Given the description of an element on the screen output the (x, y) to click on. 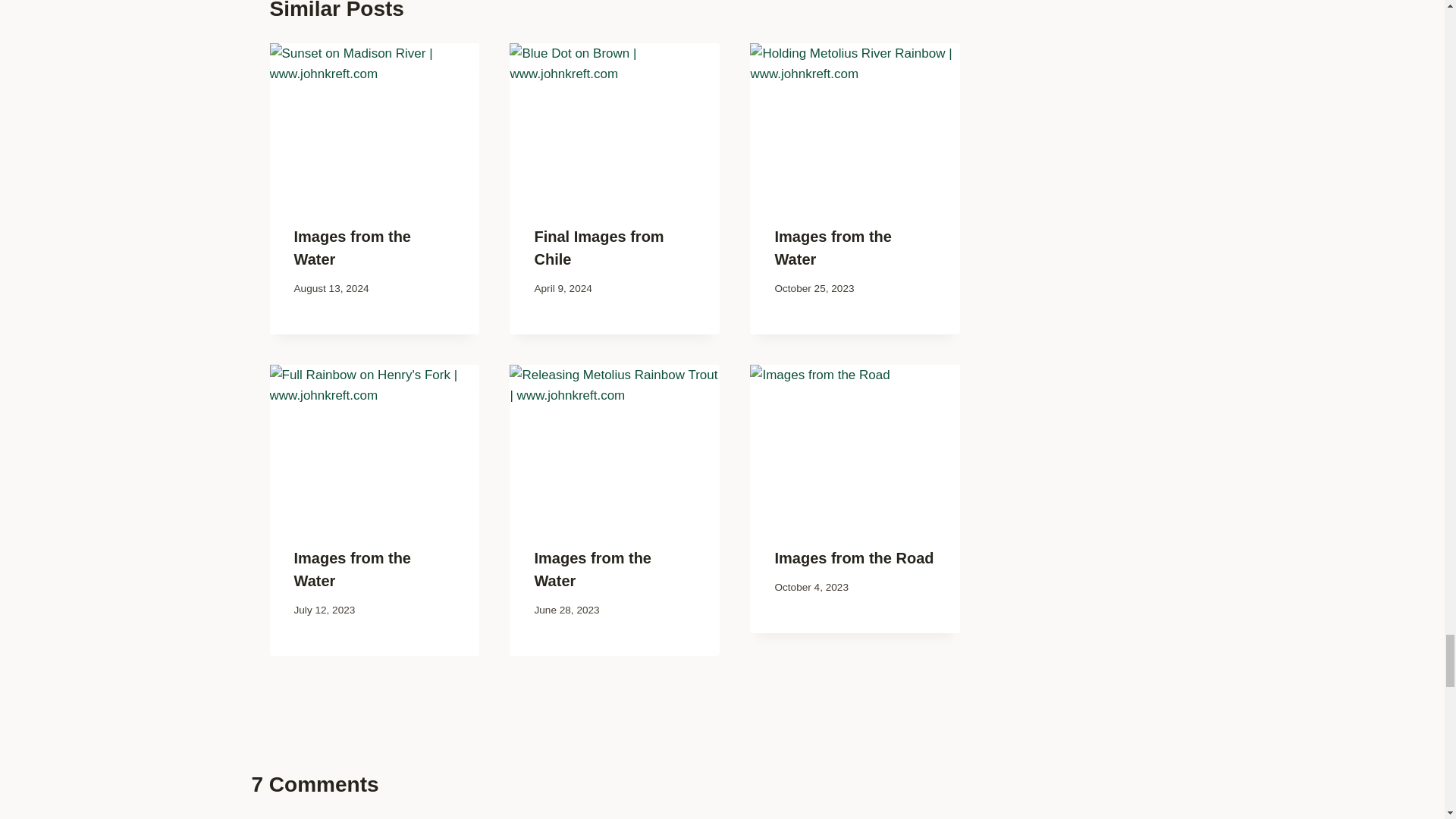
Images from the Water (352, 247)
Images from the Water (592, 568)
Images from the Water (832, 247)
Images from the Water (352, 568)
Final Images from Chile (598, 247)
Images from the Road (853, 557)
